Given the description of an element on the screen output the (x, y) to click on. 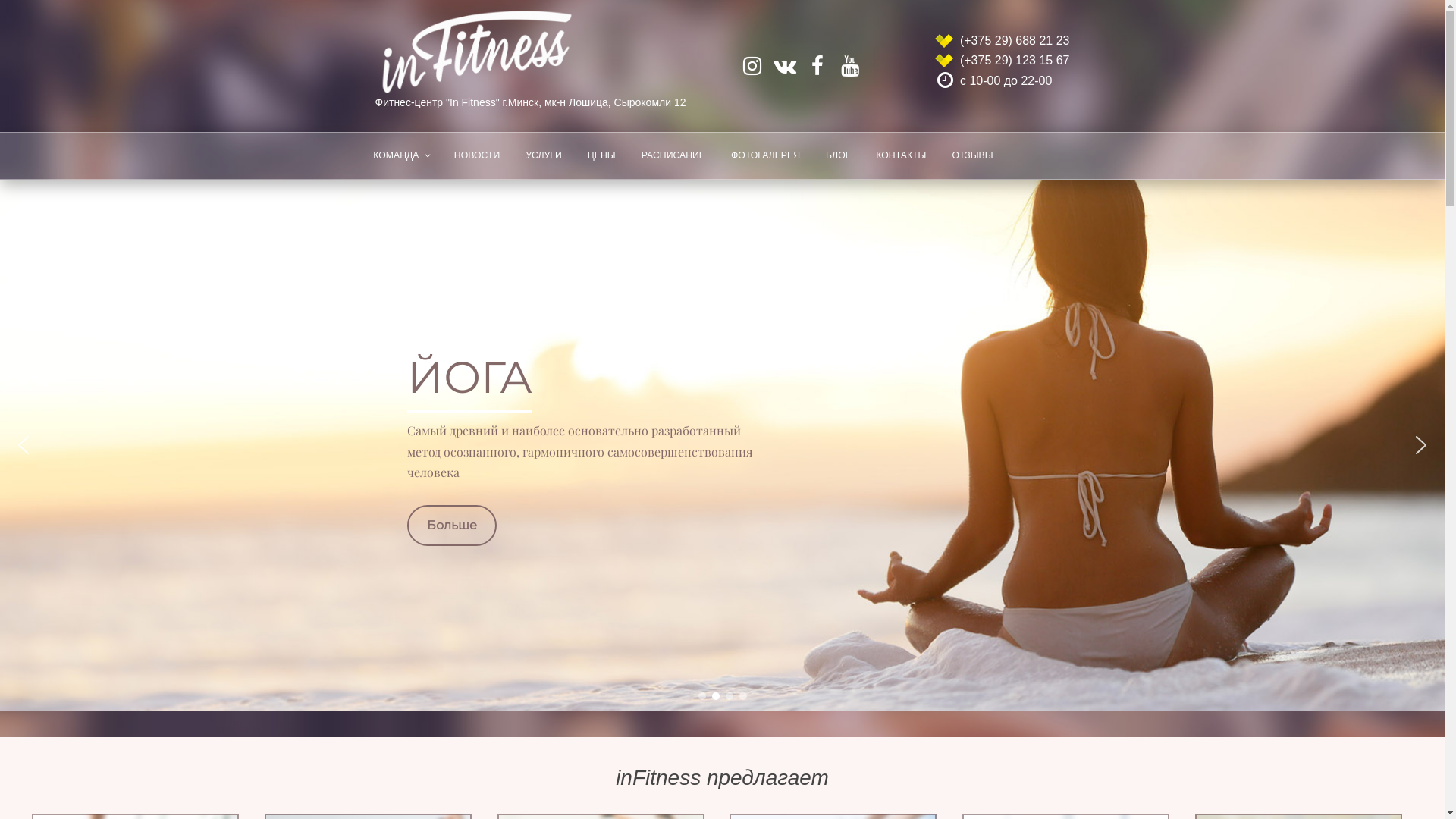
facebook.com/infitnesby Element type: hover (816, 65)
instagram.com/infitnessby Element type: hover (751, 65)
vk.com/infitnessby Element type: hover (784, 65)
